Given the description of an element on the screen output the (x, y) to click on. 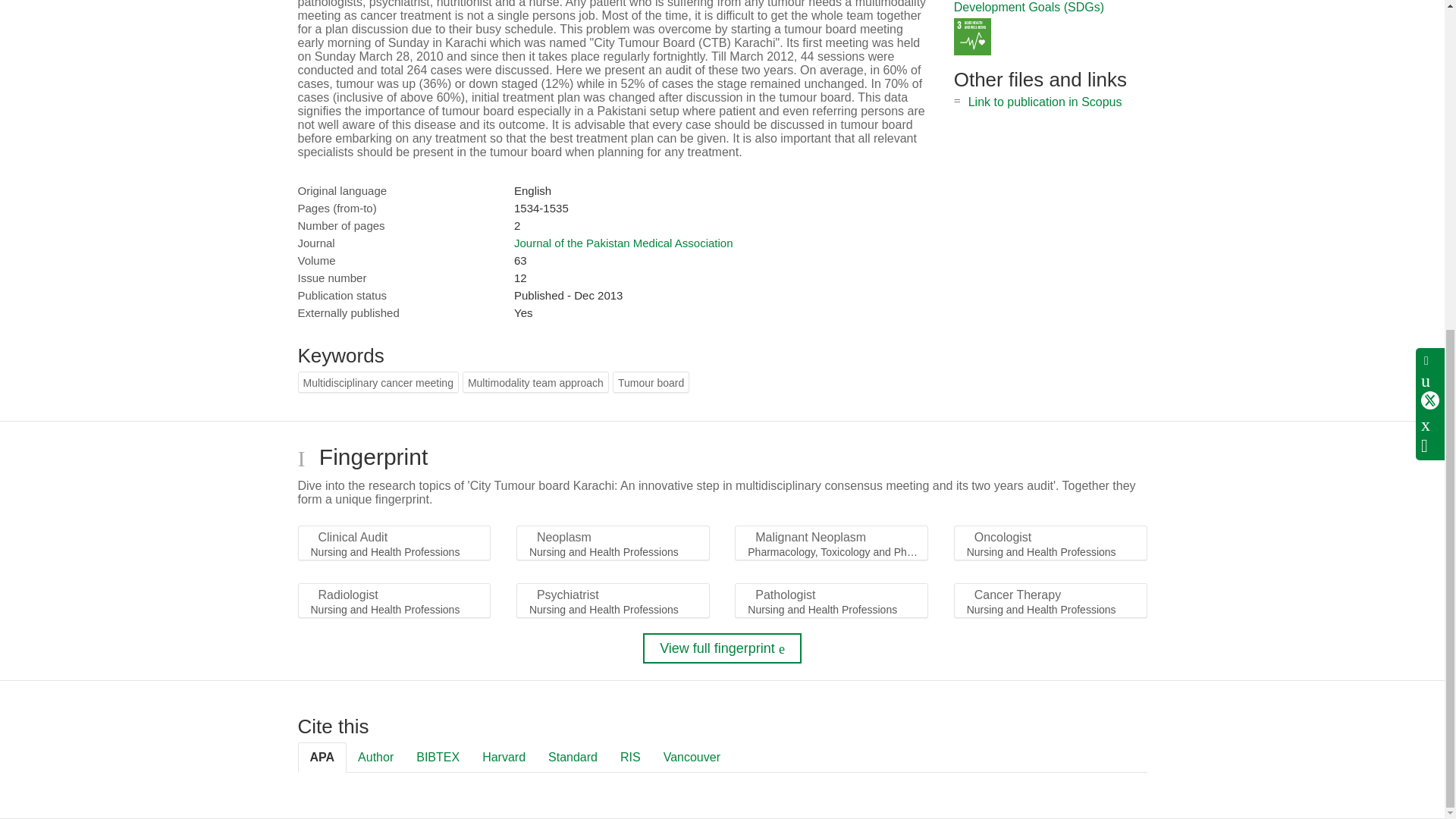
Journal of the Pakistan Medical Association (623, 242)
Link to publication in Scopus (1045, 101)
SDG 3 - Good Health and Well-being (972, 36)
View full fingerprint (722, 648)
